Given the description of an element on the screen output the (x, y) to click on. 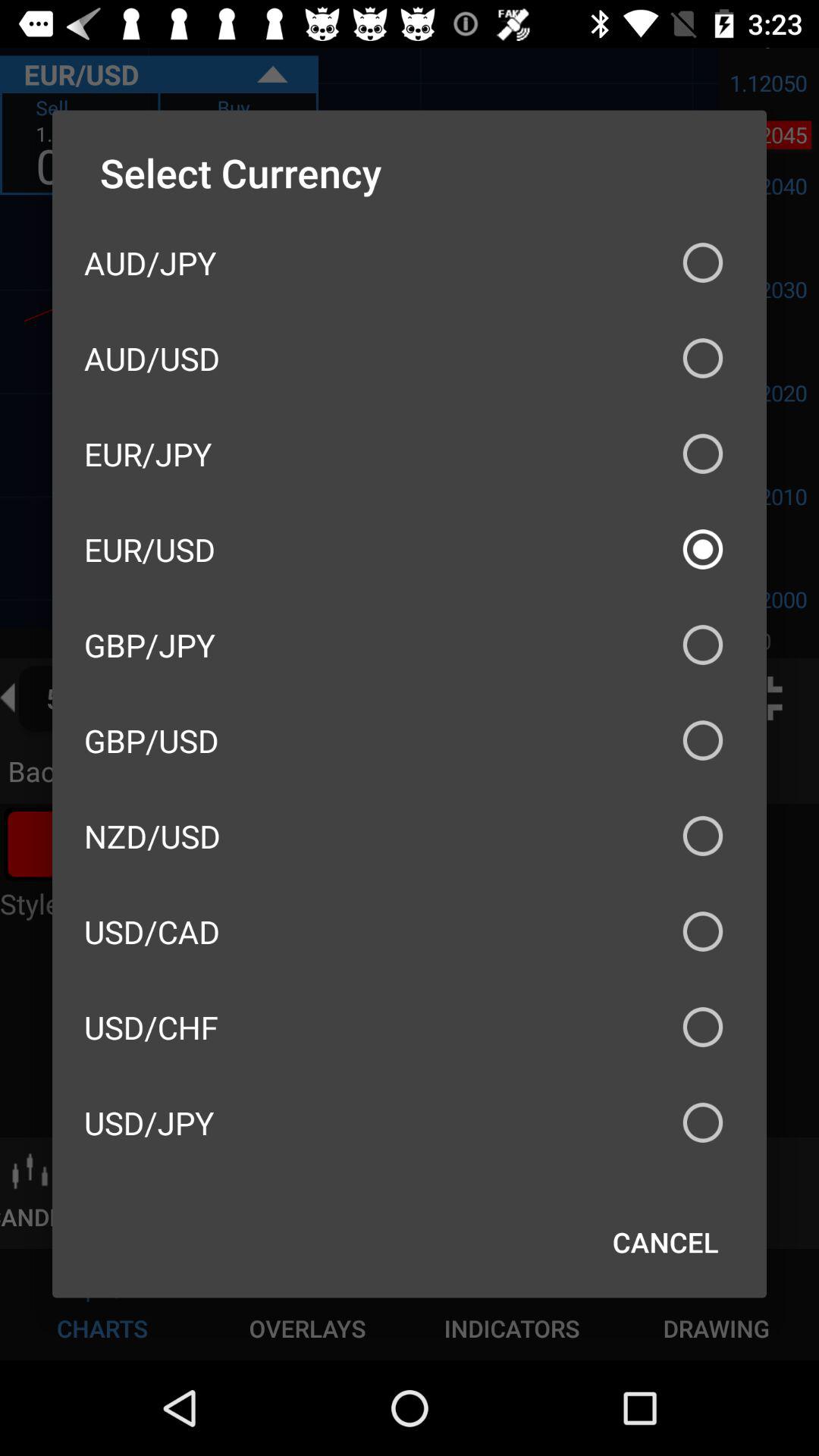
open cancel item (665, 1241)
